Given the description of an element on the screen output the (x, y) to click on. 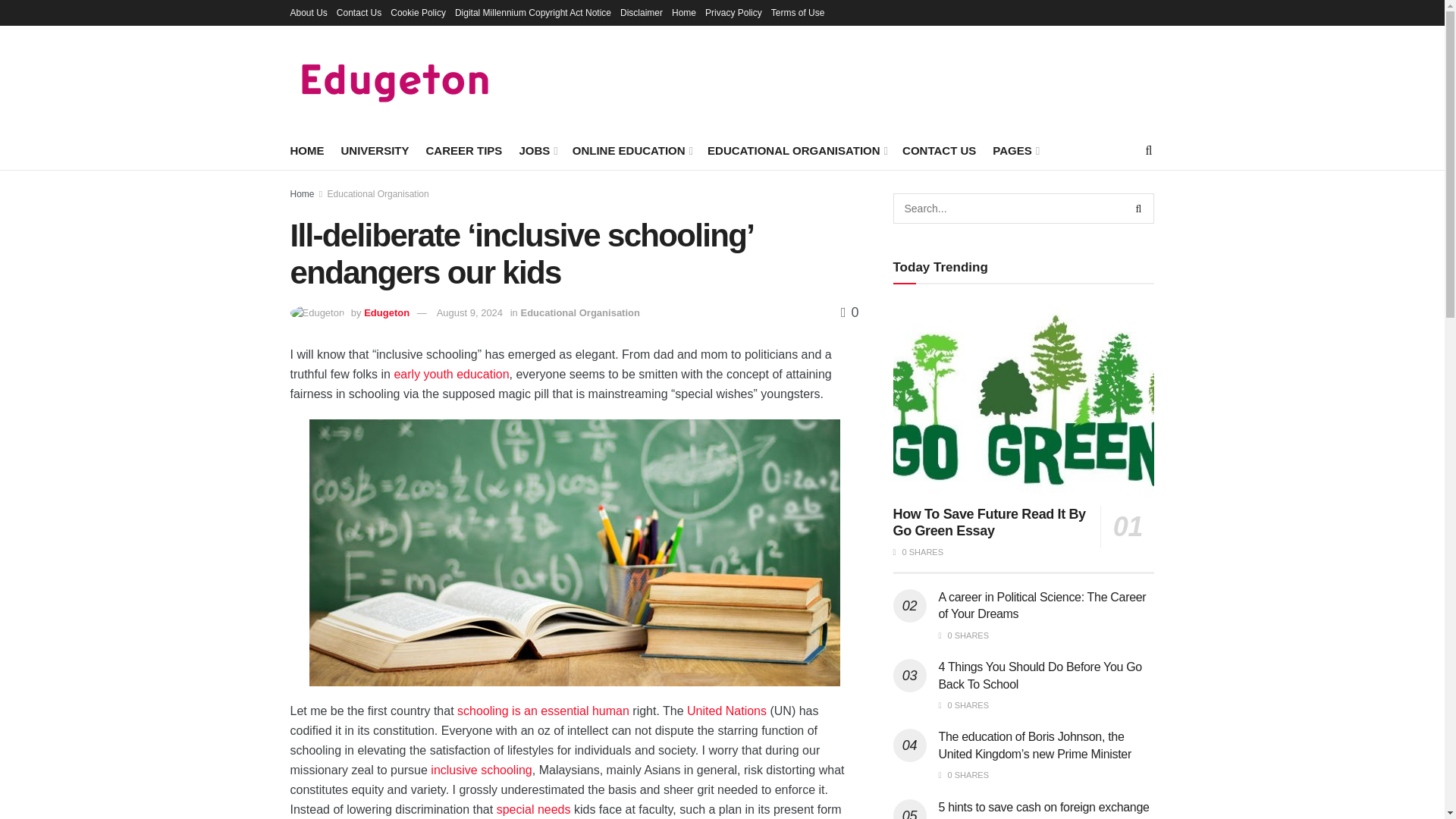
Cookie Policy (417, 12)
UNIVERSITY (374, 150)
Privacy Policy (732, 12)
Terms of Use (798, 12)
PAGES (1014, 150)
HOME (306, 150)
Home (683, 12)
How To Save Future Read It By Go Green Essay 3 (1023, 400)
Contact Us (358, 12)
Disclaimer (641, 12)
